Given the description of an element on the screen output the (x, y) to click on. 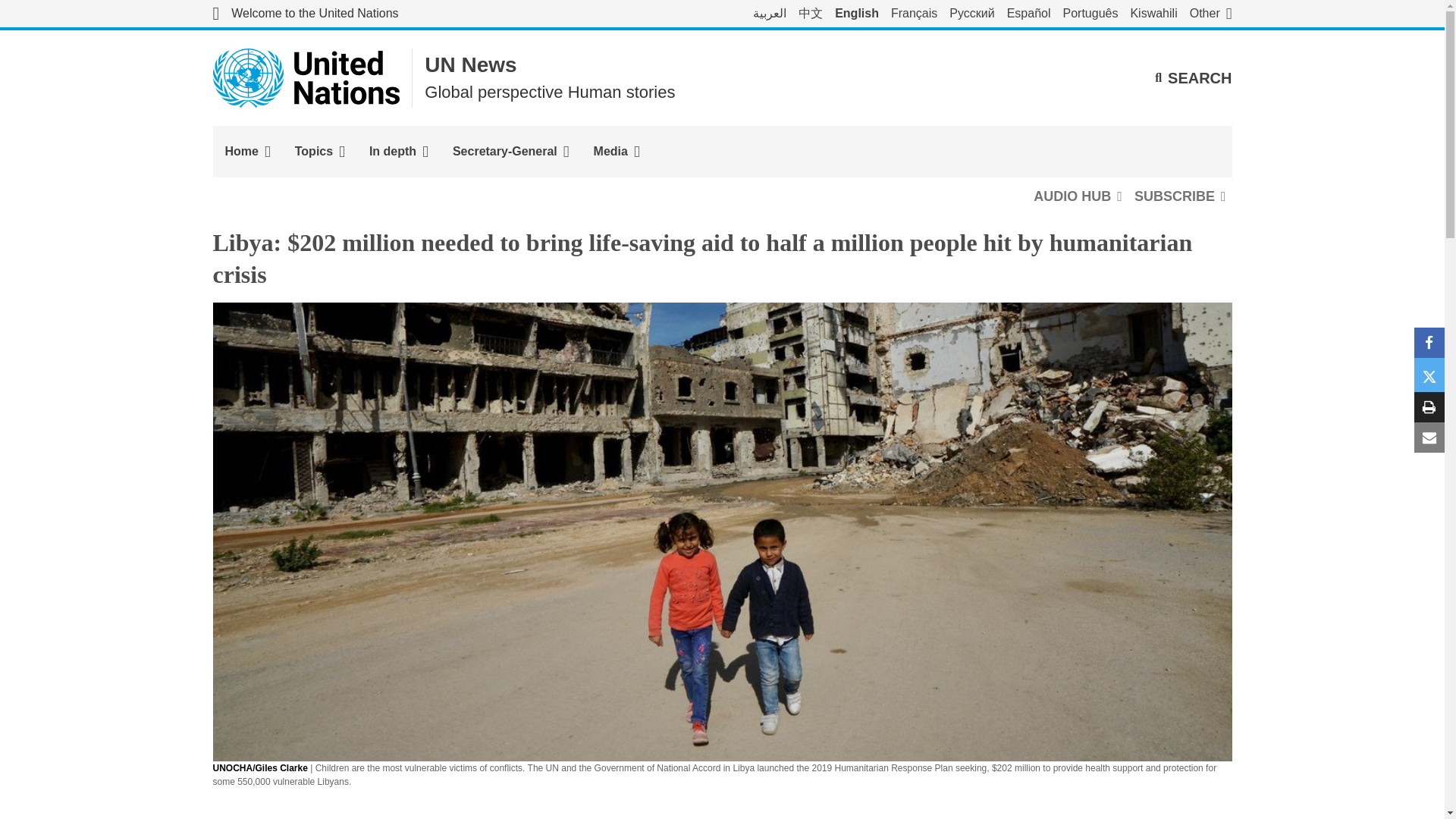
Topics (319, 151)
Other (1210, 13)
SEARCH (1192, 77)
UN News (470, 64)
Welcome to the United Nations (304, 13)
UN News (470, 64)
Kiswahili (1152, 13)
United Nations (304, 13)
Home (247, 151)
United Nations (305, 76)
English (856, 13)
Home (247, 151)
